Given the description of an element on the screen output the (x, y) to click on. 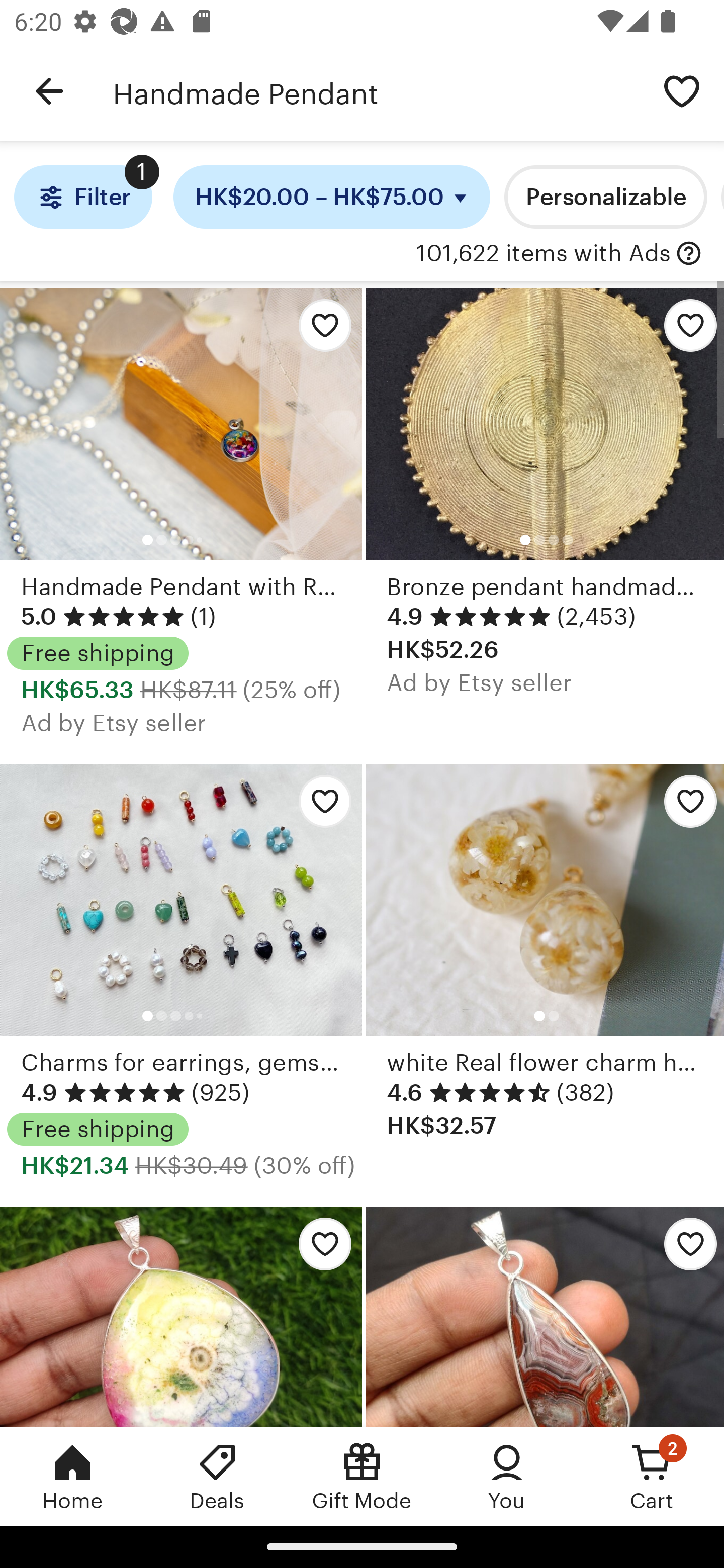
Navigate up (49, 91)
Save search (681, 90)
Handmade Pendant (375, 91)
Filter (82, 197)
HK$20.00 – HK$75.00 (331, 197)
Personalizable (605, 197)
101,622 items with Ads (543, 253)
with Ads (688, 253)
Deals (216, 1475)
Gift Mode (361, 1475)
You (506, 1475)
Cart, 2 new notifications Cart (651, 1475)
